Given the description of an element on the screen output the (x, y) to click on. 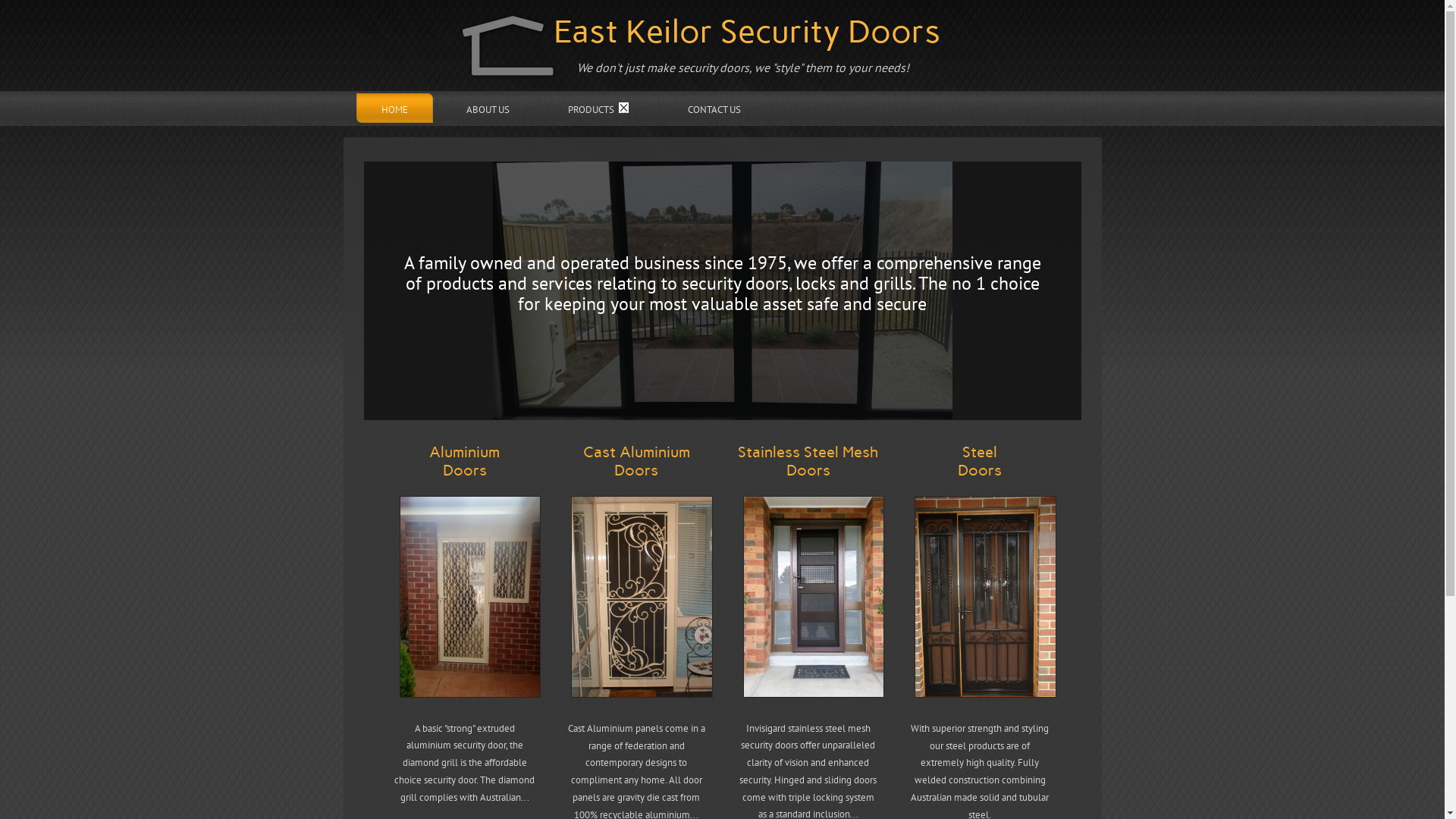
DSCF0123 Element type: hover (985, 596)
PRODUCTS Element type: text (598, 107)
CONTACT US Element type: text (713, 107)
East Keilor Security Doors Element type: text (746, 31)
20160224_072331 Element type: hover (469, 596)
20160421_083103 Element type: hover (813, 596)
Aluminium
Doors Element type: text (464, 460)
ABOUT US Element type: text (487, 107)
Stainless Steel Mesh Doors Element type: text (807, 460)
Cast Aluminium Doors Element type: text (636, 460)
Steel
Doors Element type: text (979, 460)
DSCF0364 Element type: hover (641, 596)
HOME Element type: text (394, 107)
